Given the description of an element on the screen output the (x, y) to click on. 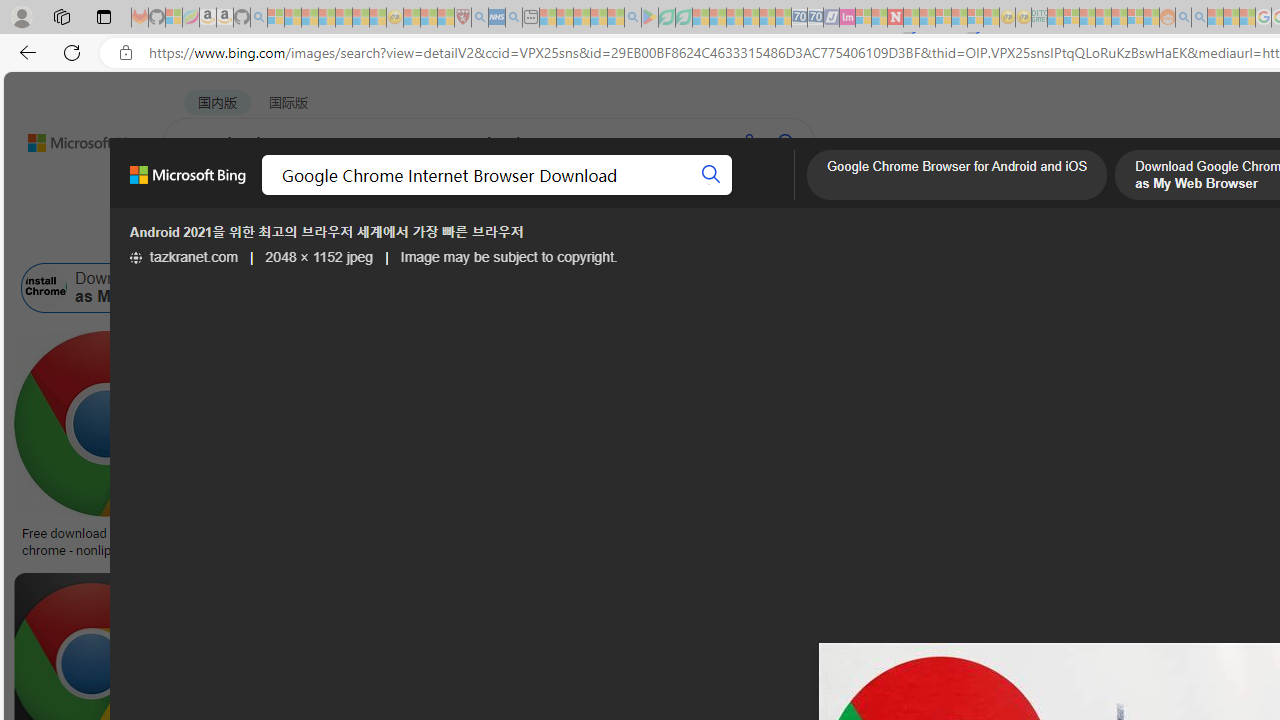
DICT (717, 195)
MY BING (276, 195)
People (521, 237)
Color (305, 237)
Layout (443, 237)
Download video online chrome - hresadishSave (335, 448)
Image result for Google Chrome Internet Browser Download (722, 617)
WEB (201, 195)
Google Chrome Web Browser Free Download (542, 287)
